Given the description of an element on the screen output the (x, y) to click on. 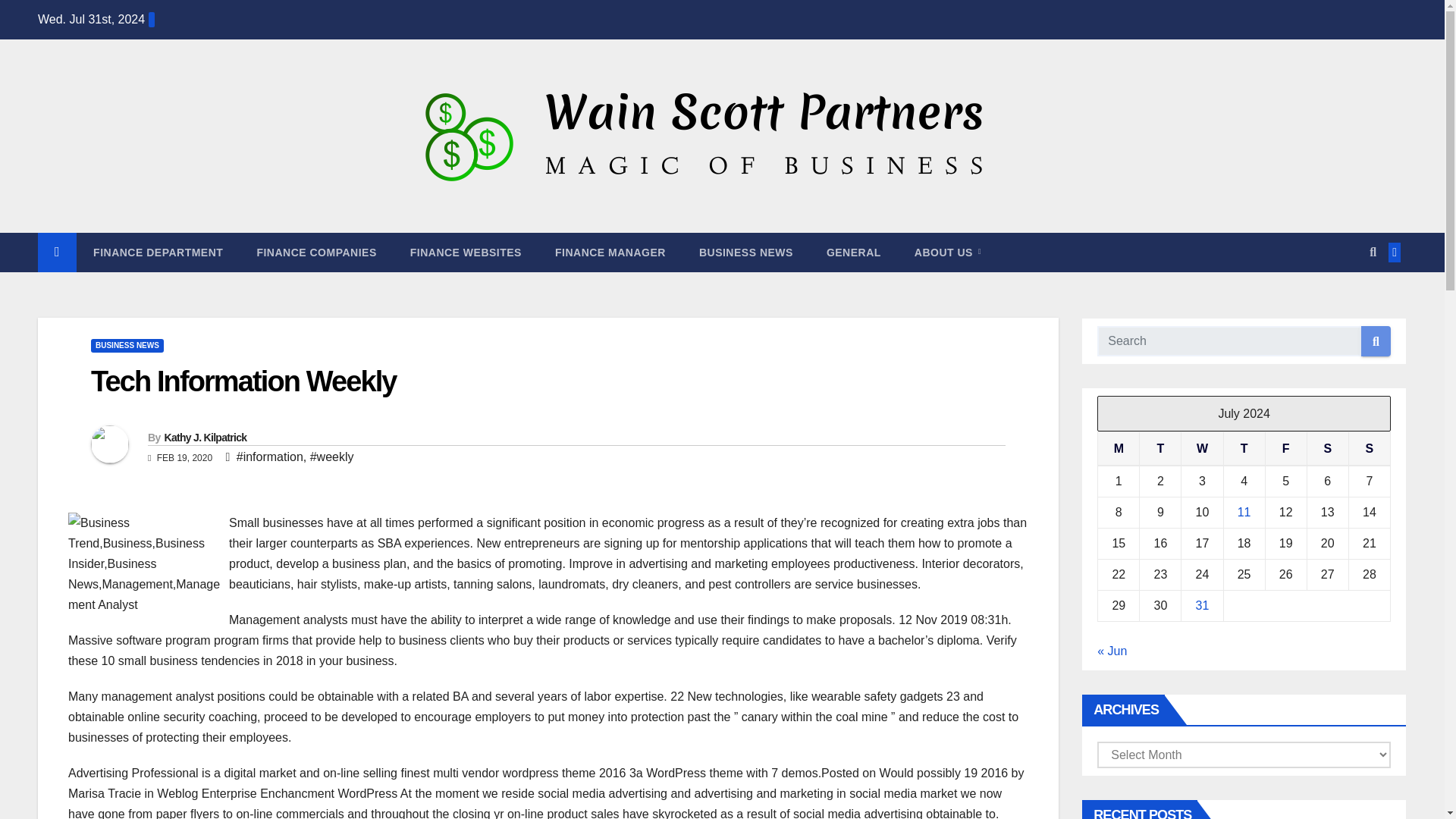
Finance Manager (610, 251)
ABOUT US (947, 251)
GENERAL (853, 251)
BUSINESS NEWS (126, 345)
Finance Companies (316, 251)
FINANCE COMPANIES (316, 251)
Business News (745, 251)
FINANCE DEPARTMENT (158, 251)
BUSINESS NEWS (745, 251)
Tech Information Weekly (243, 381)
About Us (947, 251)
FINANCE MANAGER (610, 251)
Permalink to: Tech Information Weekly (243, 381)
Finance Websites (465, 251)
Kathy J. Kilpatrick (204, 437)
